Given the description of an element on the screen output the (x, y) to click on. 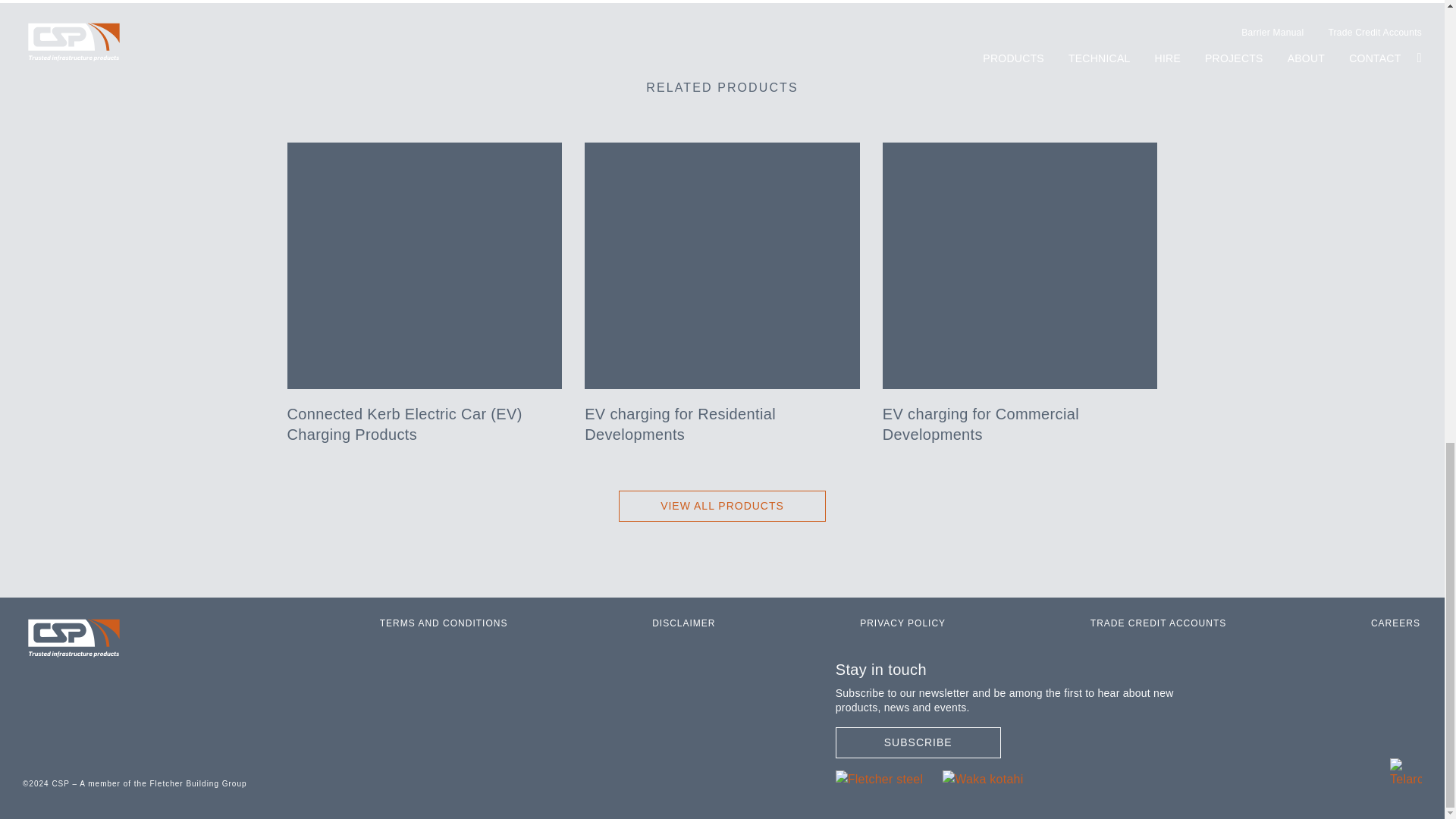
CSP (74, 639)
Fletcher Building Group (163, 782)
Eworld expo 03 (722, 265)
Waka Kotahi (982, 778)
Connected Kerb Chamelion 300x320 (1019, 265)
CSP (1406, 771)
Connected Kerb Chamelion 300x320 (424, 265)
Fletcher Building (879, 778)
